Given the description of an element on the screen output the (x, y) to click on. 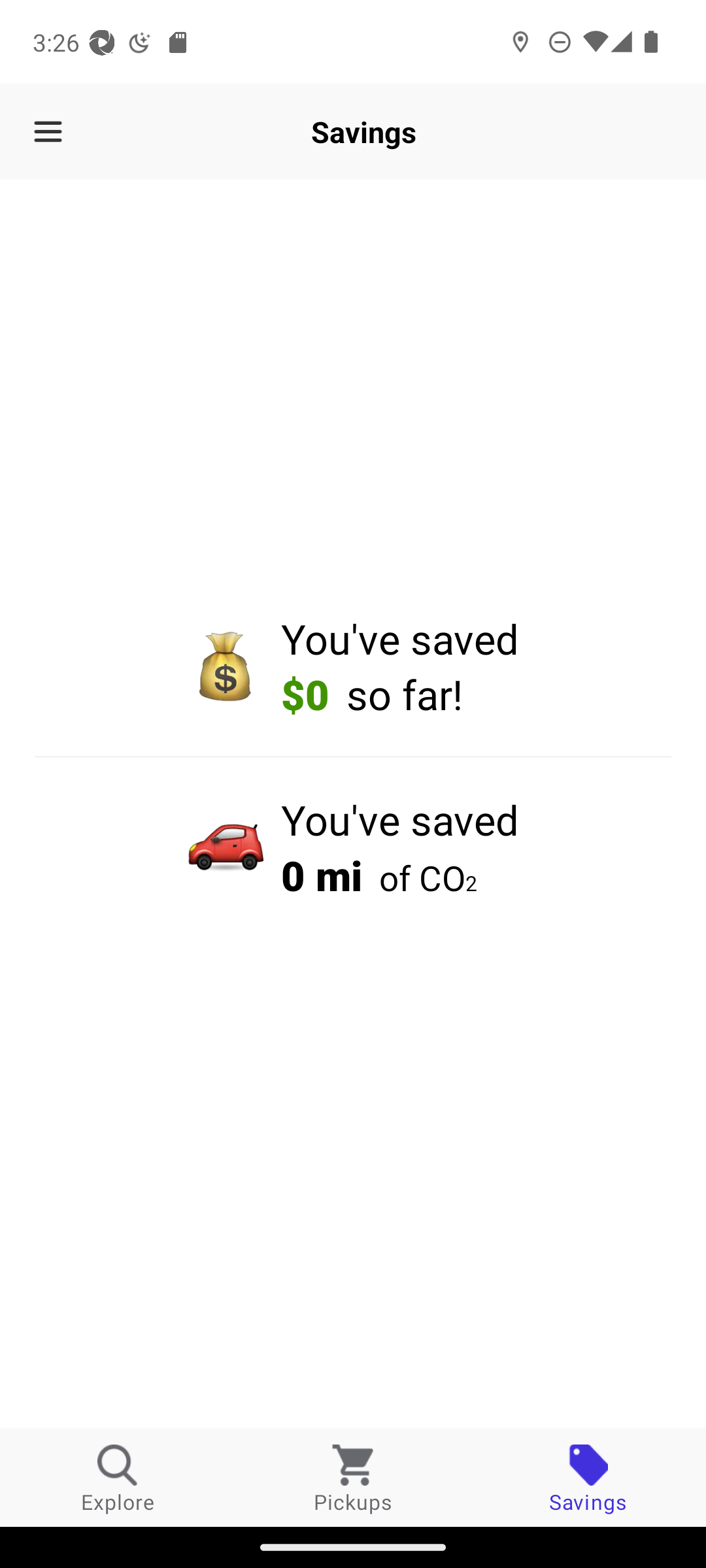
Navigate up (48, 131)
Explore (117, 1478)
Pickups (352, 1478)
